Given the description of an element on the screen output the (x, y) to click on. 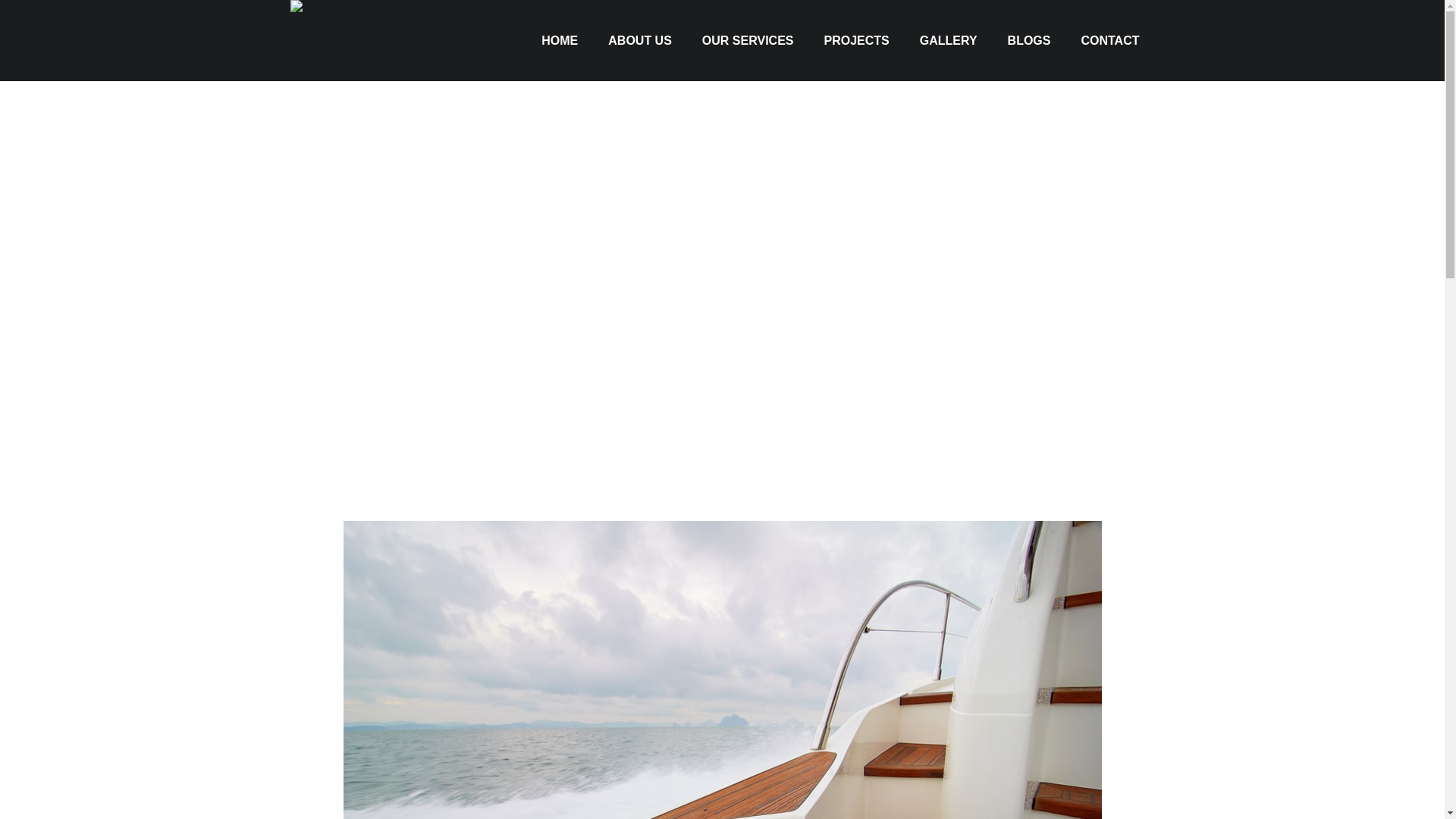
CONTACT (1109, 40)
GALLERY (948, 40)
PROJECTS (856, 40)
BLOGS (1028, 40)
HOME (558, 40)
OUR SERVICES (748, 40)
ABOUT US (639, 40)
